Given the description of an element on the screen output the (x, y) to click on. 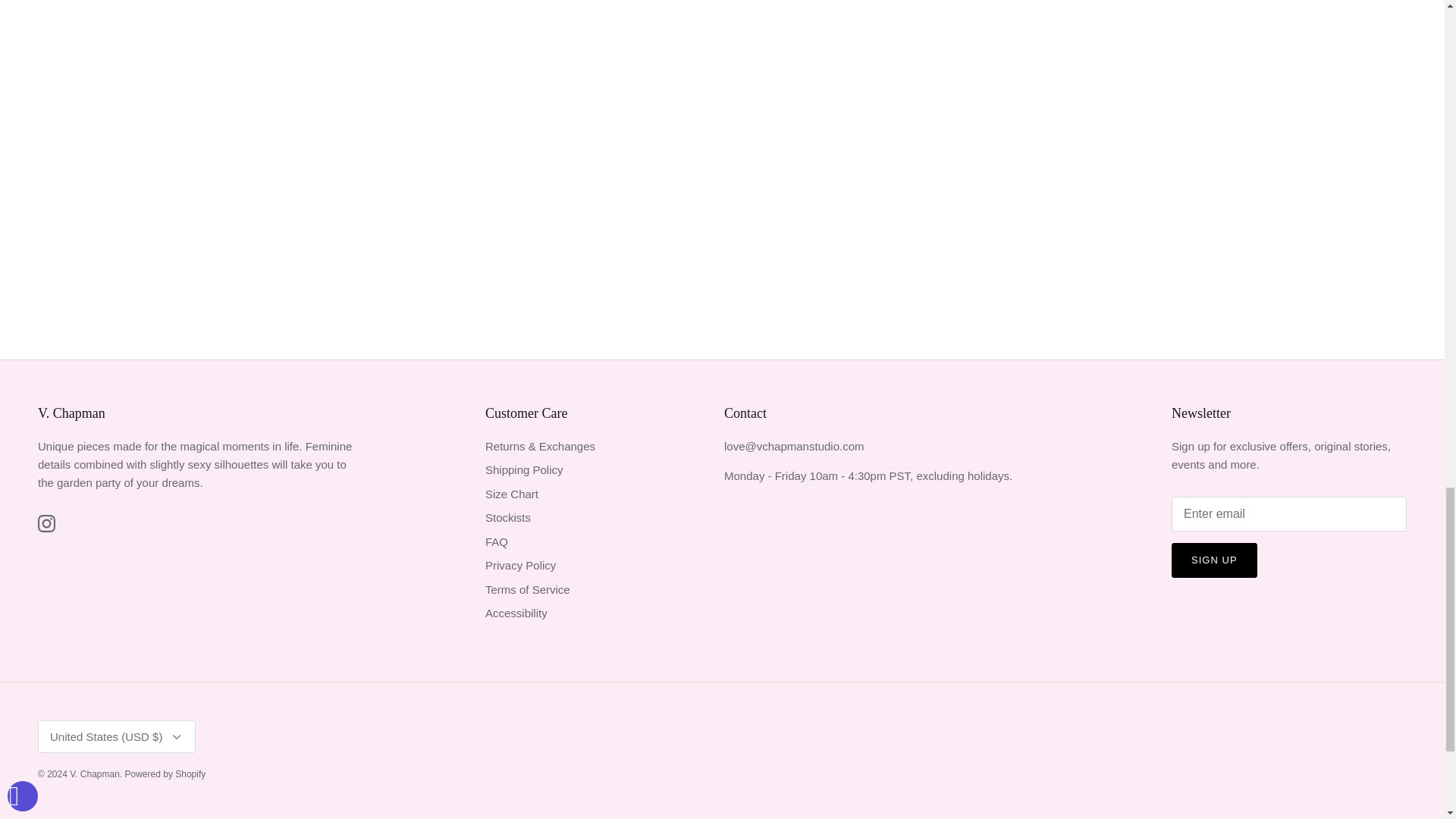
Down (176, 736)
Instagram (46, 523)
